Given the description of an element on the screen output the (x, y) to click on. 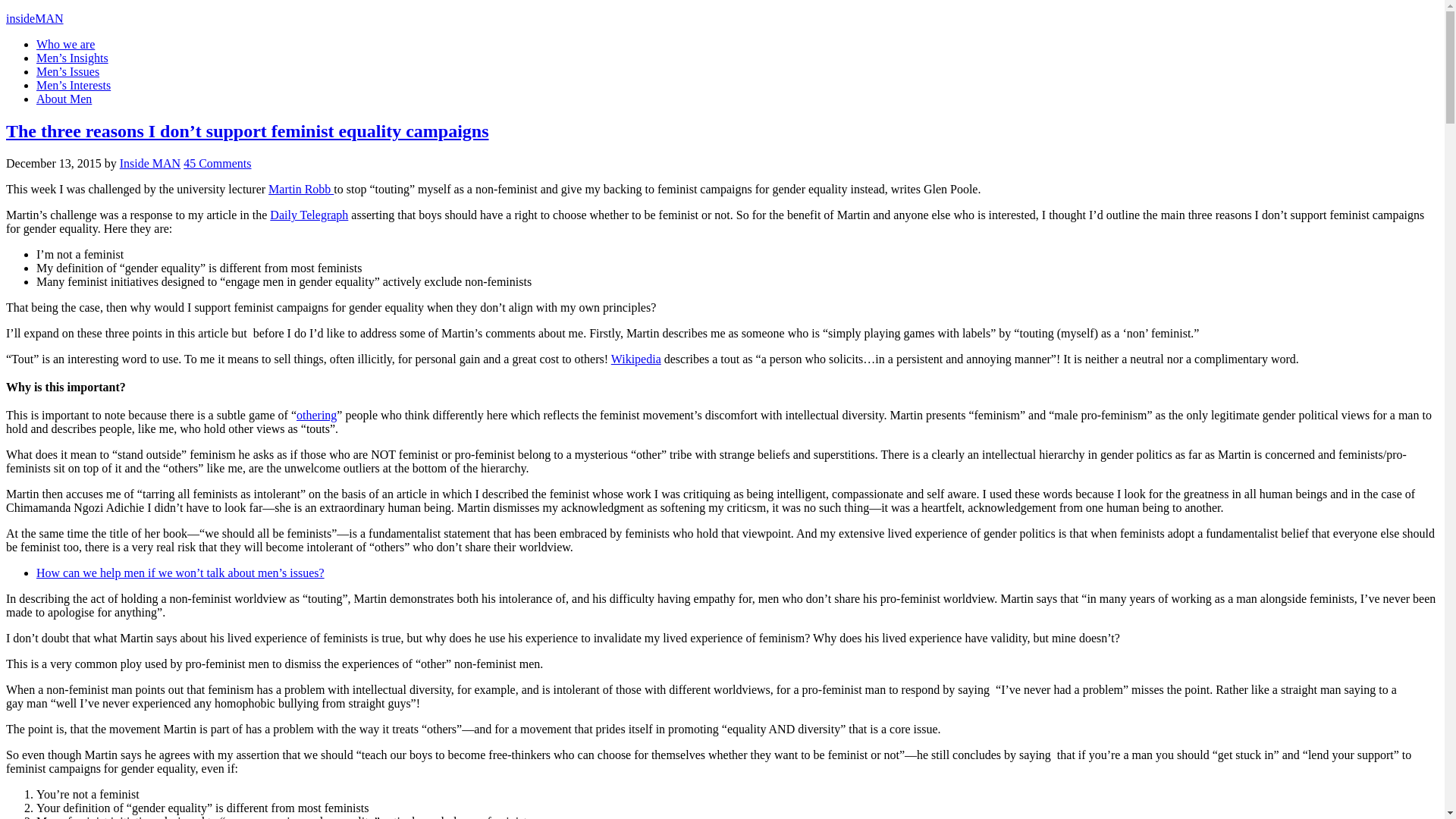
Wikipedia (636, 358)
Inside MAN (149, 163)
45 Comments (216, 163)
Who we are (65, 43)
Daily Telegraph (308, 214)
About Men (63, 98)
othering (316, 414)
Martin Robb (300, 188)
insideMAN (34, 18)
